Given the description of an element on the screen output the (x, y) to click on. 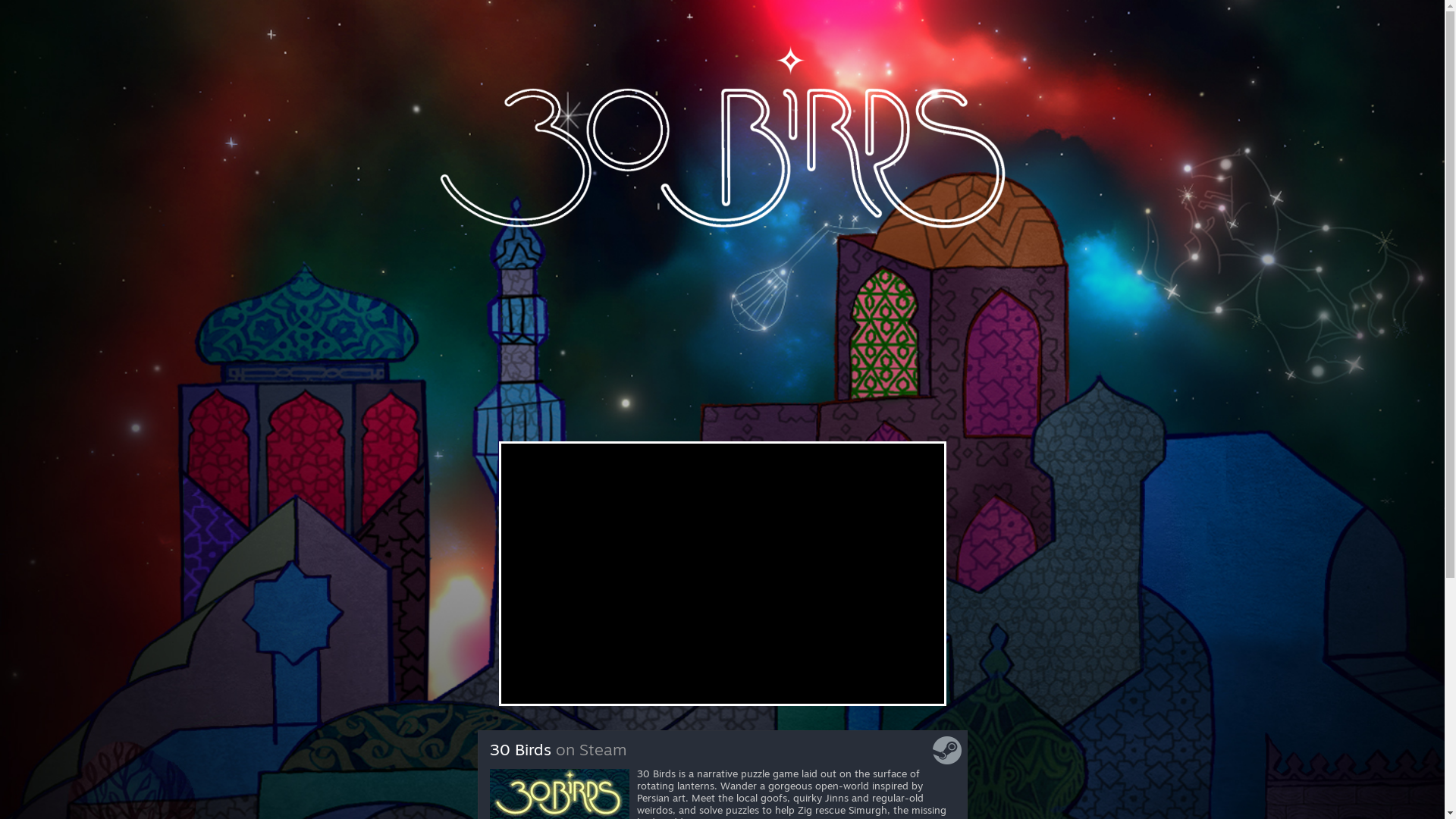
YouTube video player Element type: hover (713, 571)
